Given the description of an element on the screen output the (x, y) to click on. 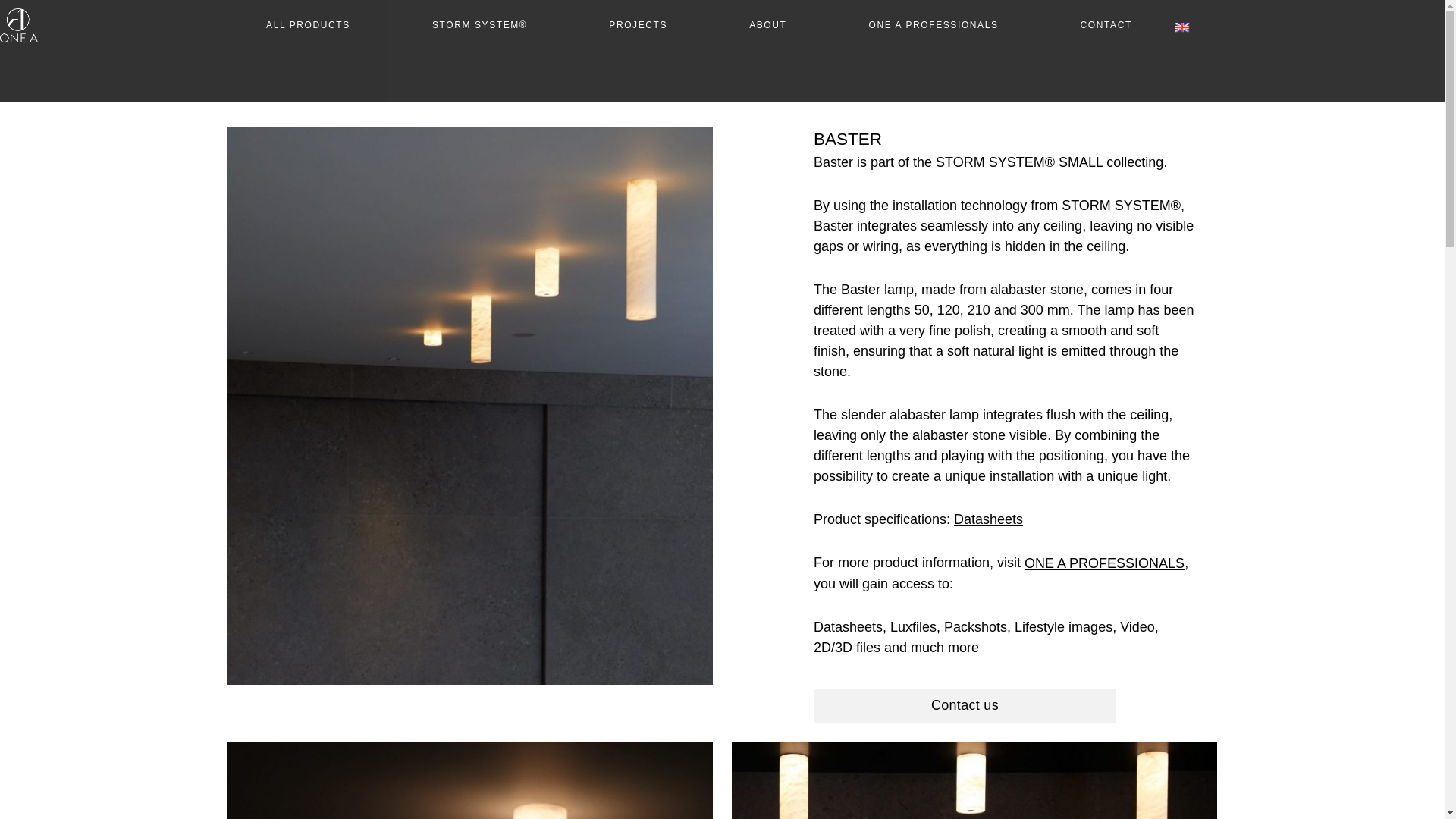
Contact us (964, 705)
ONE A PROFESSIONALS (1105, 563)
ONE A PROFESSIONALS (933, 25)
CONTACT (1106, 25)
Datasheets (988, 519)
ALL PRODUCTS (308, 25)
PROJECTS (637, 25)
ABOUT (767, 25)
